Given the description of an element on the screen output the (x, y) to click on. 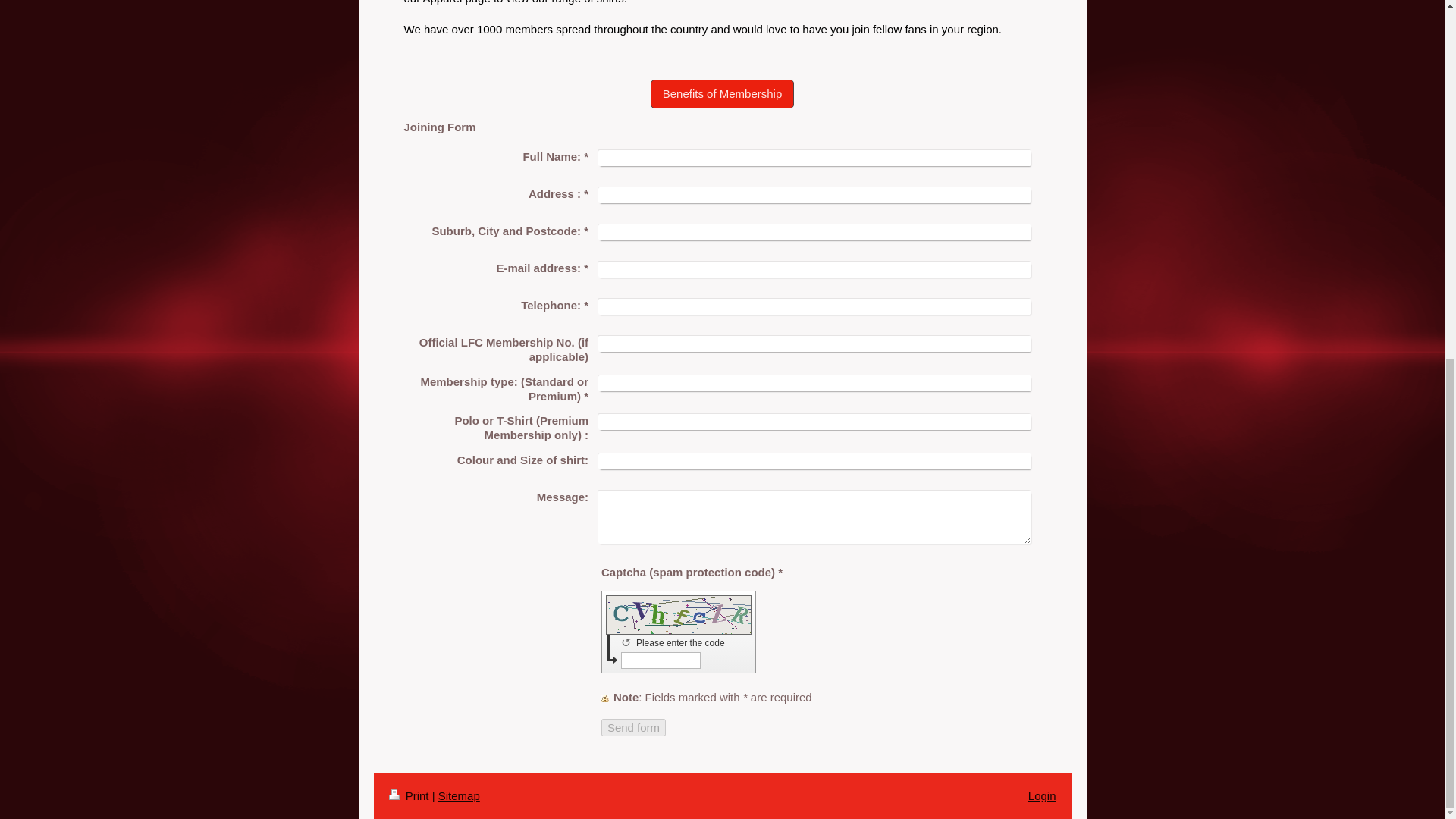
Sitemap (459, 795)
Benefits of Membership (722, 93)
Print (409, 795)
Generate new code (628, 642)
Send form (633, 727)
Login (1042, 795)
Send form (633, 727)
